Given the description of an element on the screen output the (x, y) to click on. 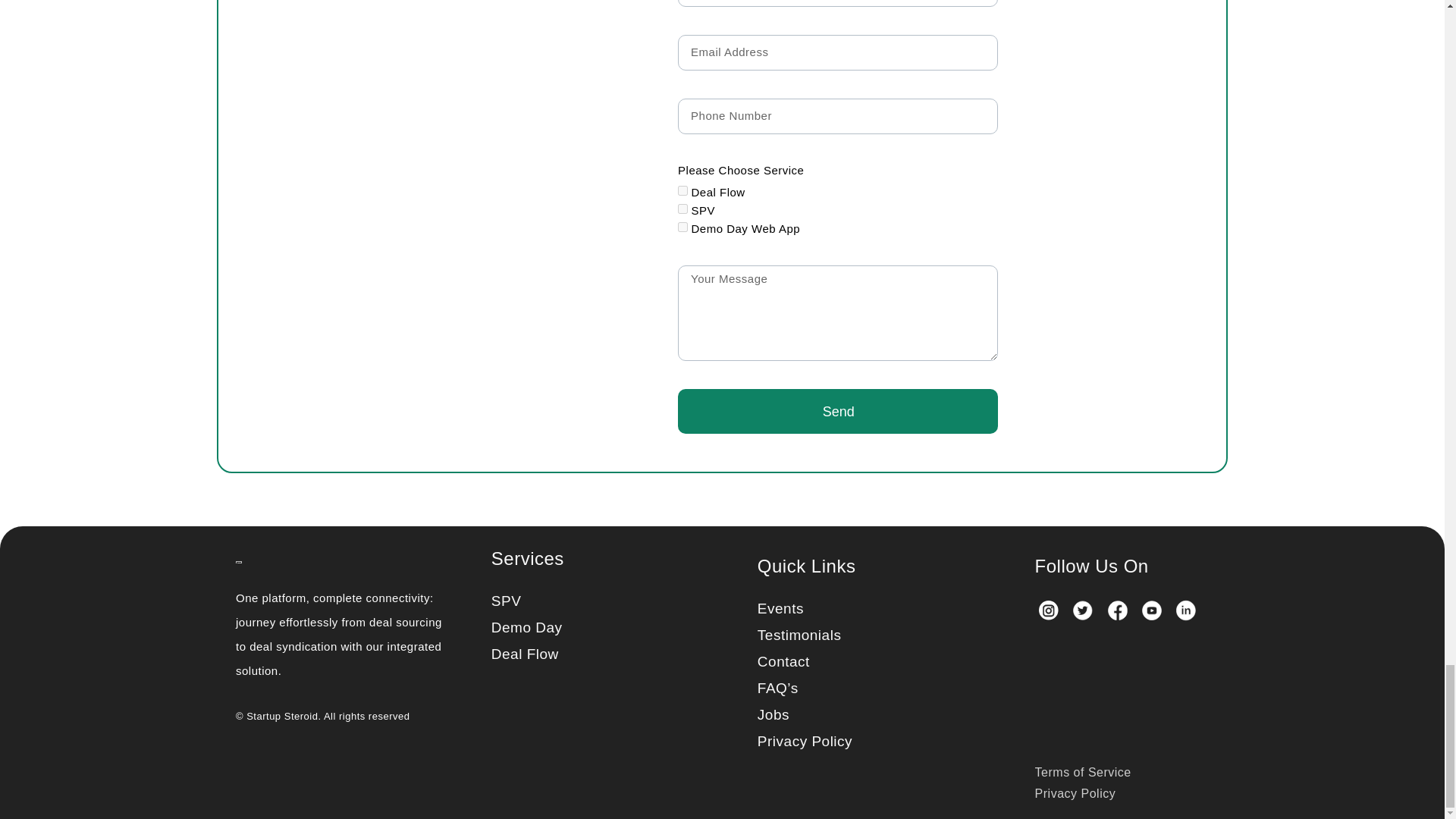
Demo Day Web App (682, 226)
SPV (682, 208)
Deal Flow (682, 189)
